Given the description of an element on the screen output the (x, y) to click on. 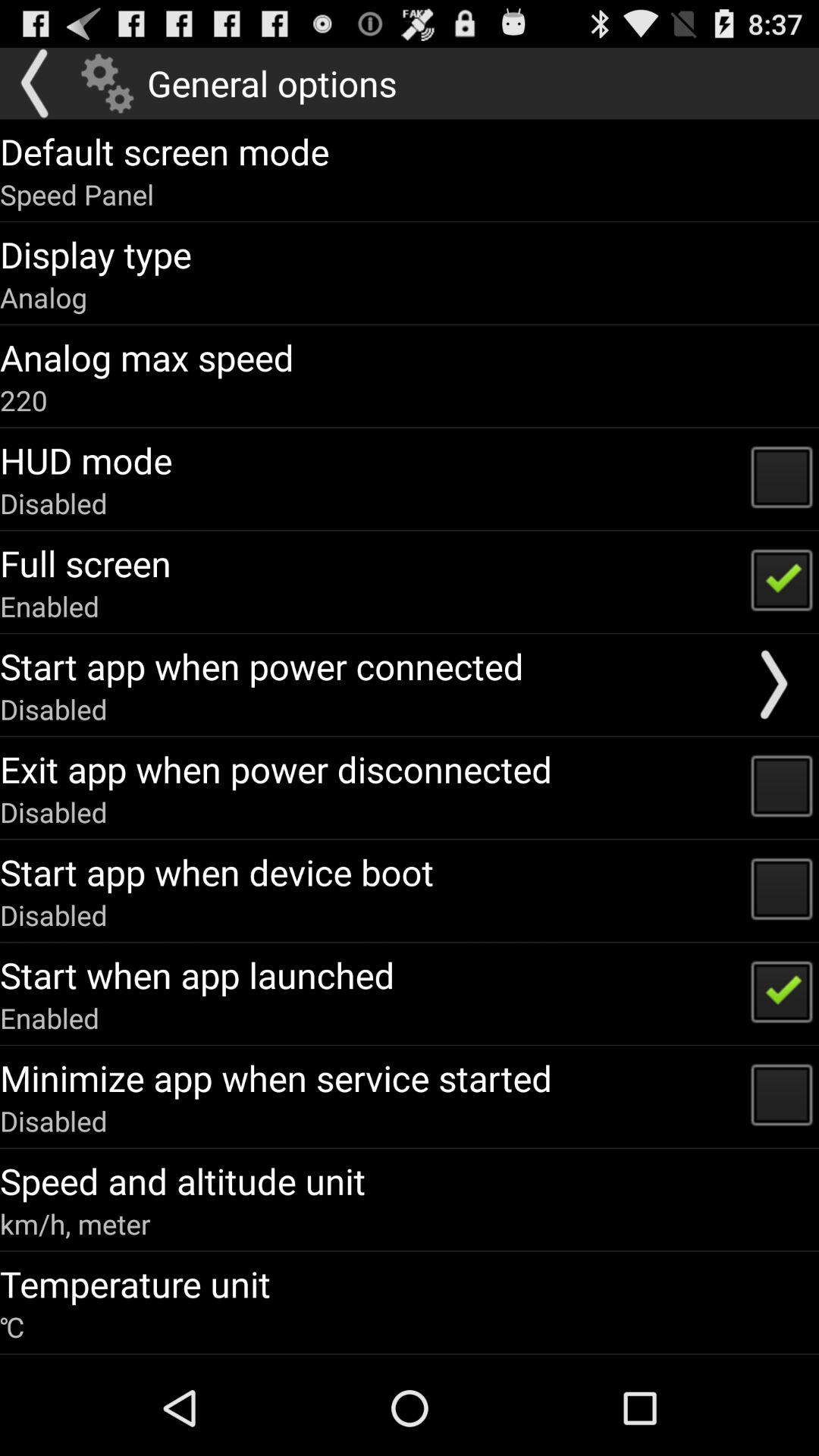
go back (35, 83)
